Given the description of an element on the screen output the (x, y) to click on. 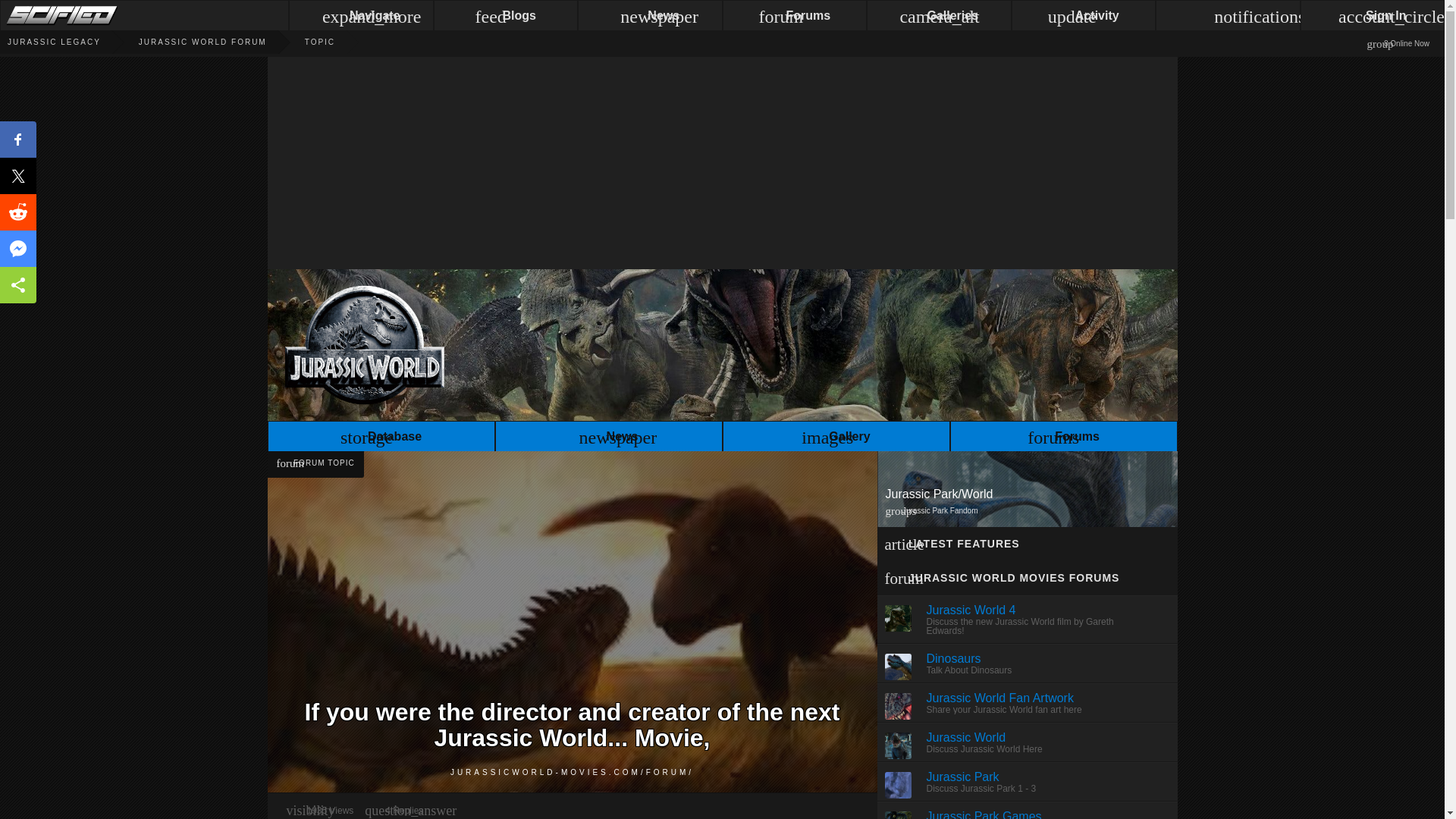
Jurassic Park Games (984, 814)
Jurassic Park (962, 776)
Forums (1062, 438)
Dinosaurs (953, 658)
TOPIC (300, 42)
Gallery (835, 438)
Latest Jurassic World Movies news (608, 438)
Jurassic World Forum (183, 42)
JURASSIC LEGACY (50, 42)
JURASSIC WORLD FORUM (183, 42)
All things Jurassic Park (50, 42)
Open the Jurassic World Movies Forums (1062, 438)
Jurassic World Movies Info Database (380, 438)
News (608, 438)
